Given the description of an element on the screen output the (x, y) to click on. 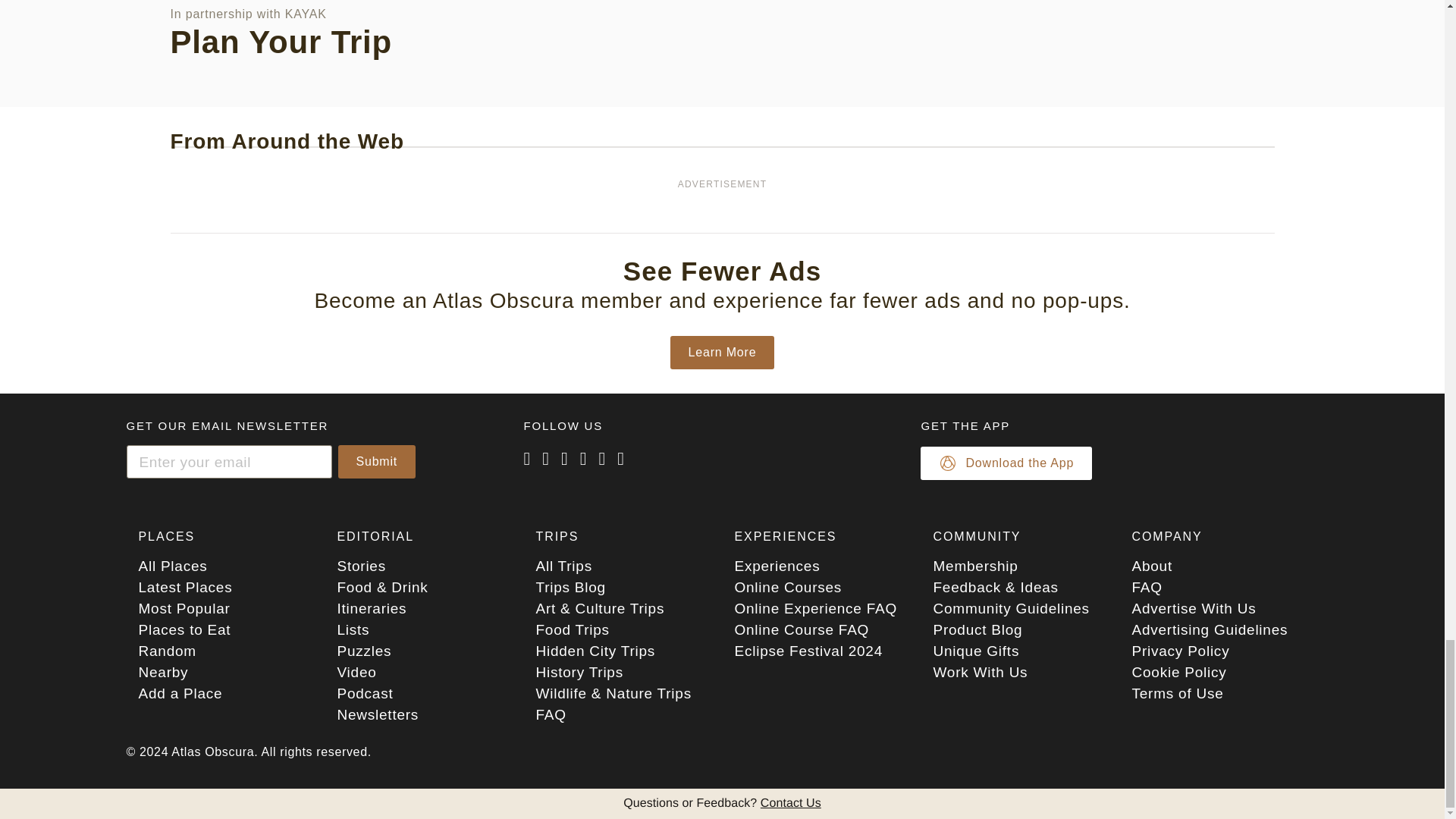
Submit (376, 461)
